Given the description of an element on the screen output the (x, y) to click on. 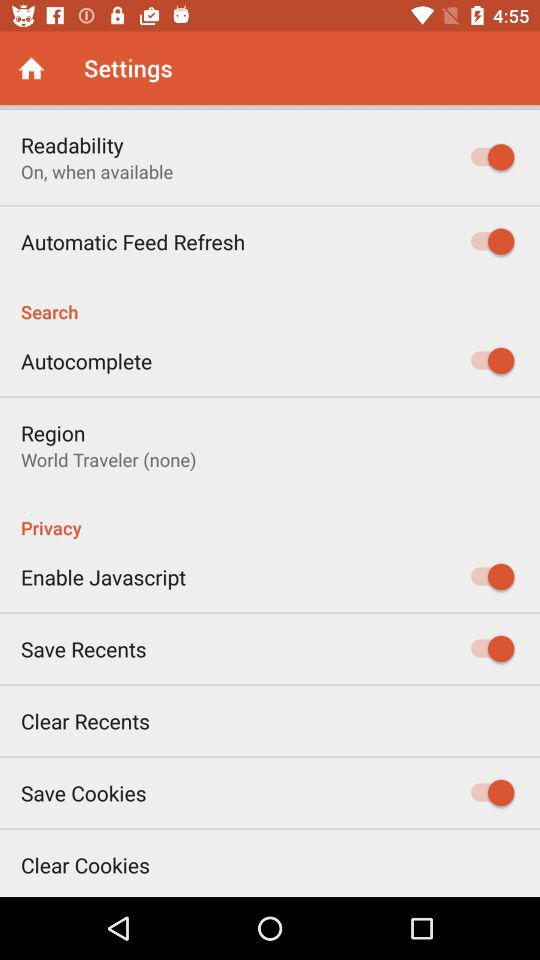
scroll until save recents (83, 648)
